Given the description of an element on the screen output the (x, y) to click on. 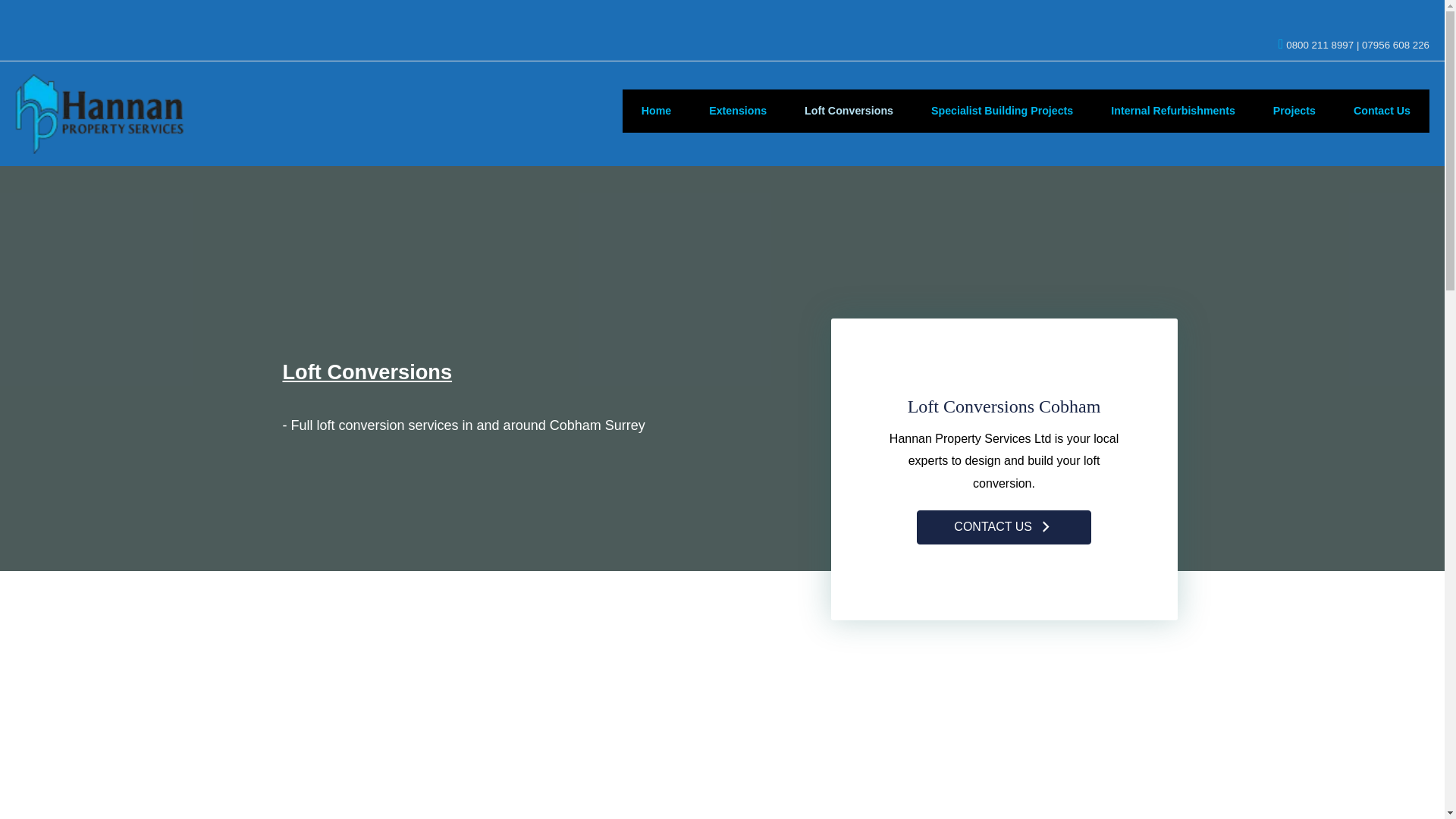
Specialist Building Projects (1002, 110)
Contact Us (1382, 110)
Home (656, 110)
CONTACT US (1003, 527)
Loft Conversions (849, 110)
Extensions (738, 110)
Click Here (1003, 527)
Internal Refurbishments (1172, 110)
Projects (1294, 110)
